Given the description of an element on the screen output the (x, y) to click on. 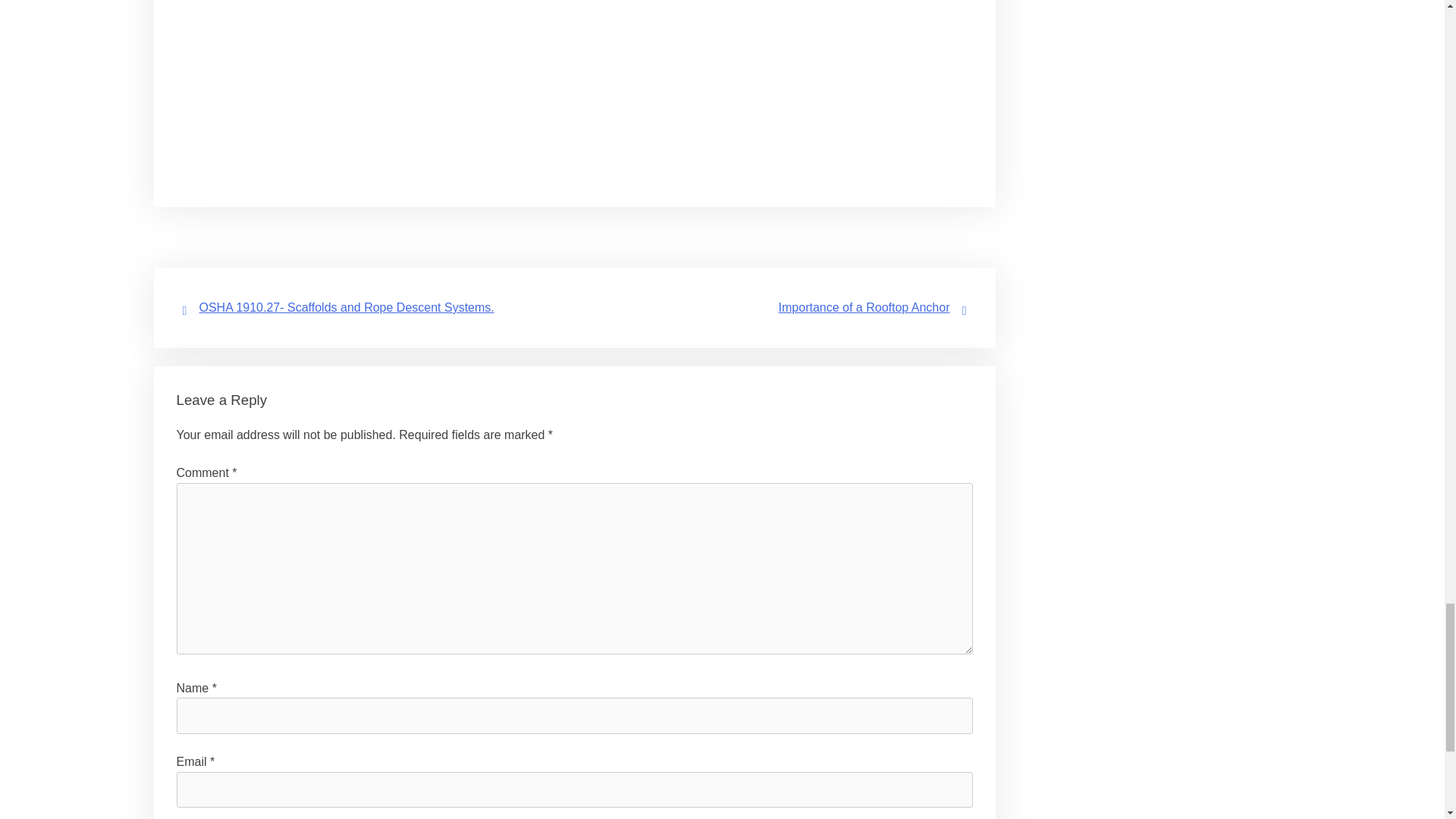
OSHA 1910.27- Scaffolds and Rope Descent Systems. (345, 307)
Importance of a Rooftop Anchor (864, 307)
YouTube video player (574, 79)
